Given the description of an element on the screen output the (x, y) to click on. 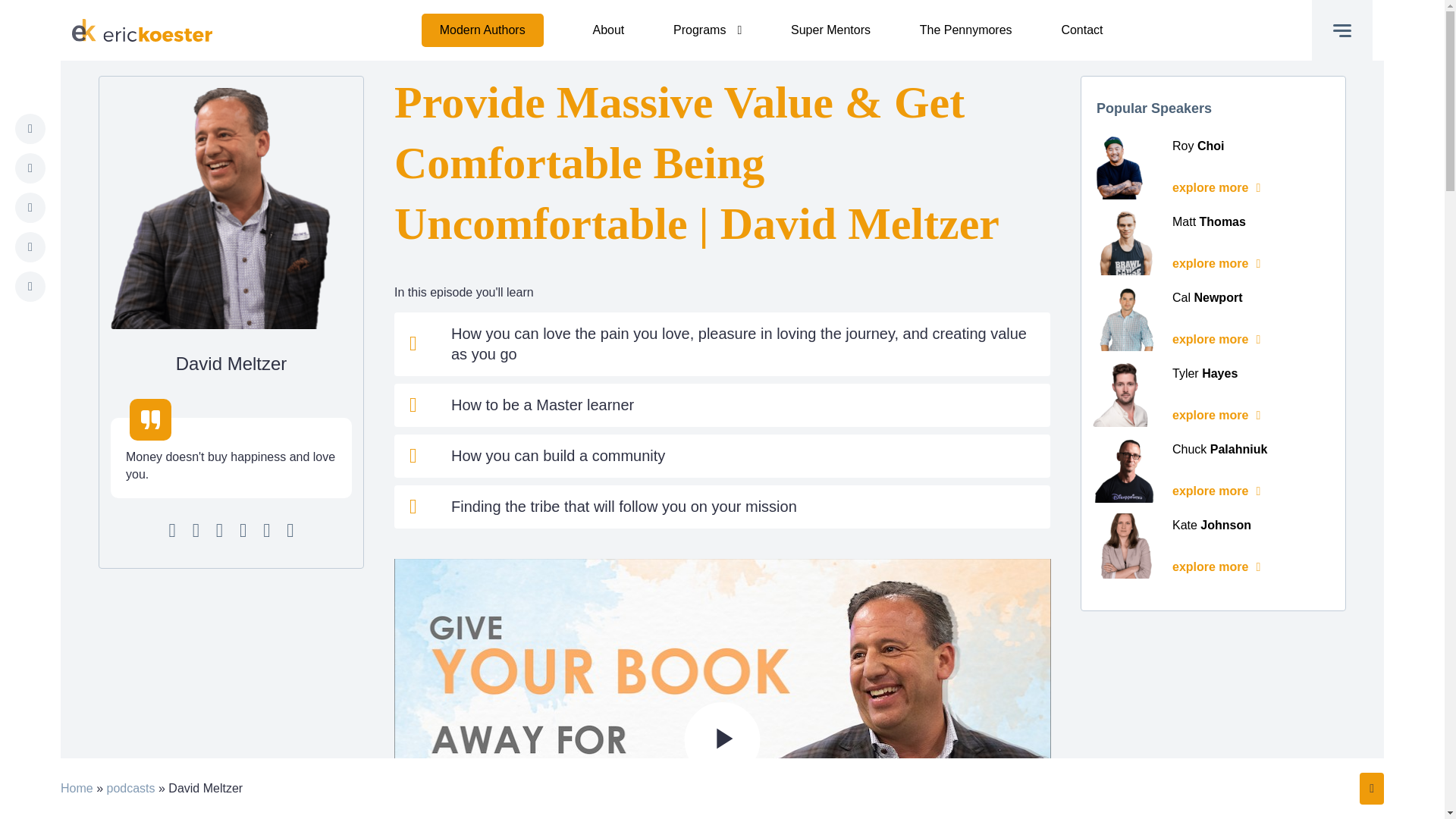
Play Video (722, 739)
podcasts (130, 788)
The Pennymores (965, 29)
Podcasts (482, 33)
Super Mentors (830, 29)
Play Video (722, 739)
Home (77, 788)
Book Creators (706, 31)
Modern Authors (482, 29)
Programs (706, 29)
Contact (1081, 29)
About (608, 29)
